Given the description of an element on the screen output the (x, y) to click on. 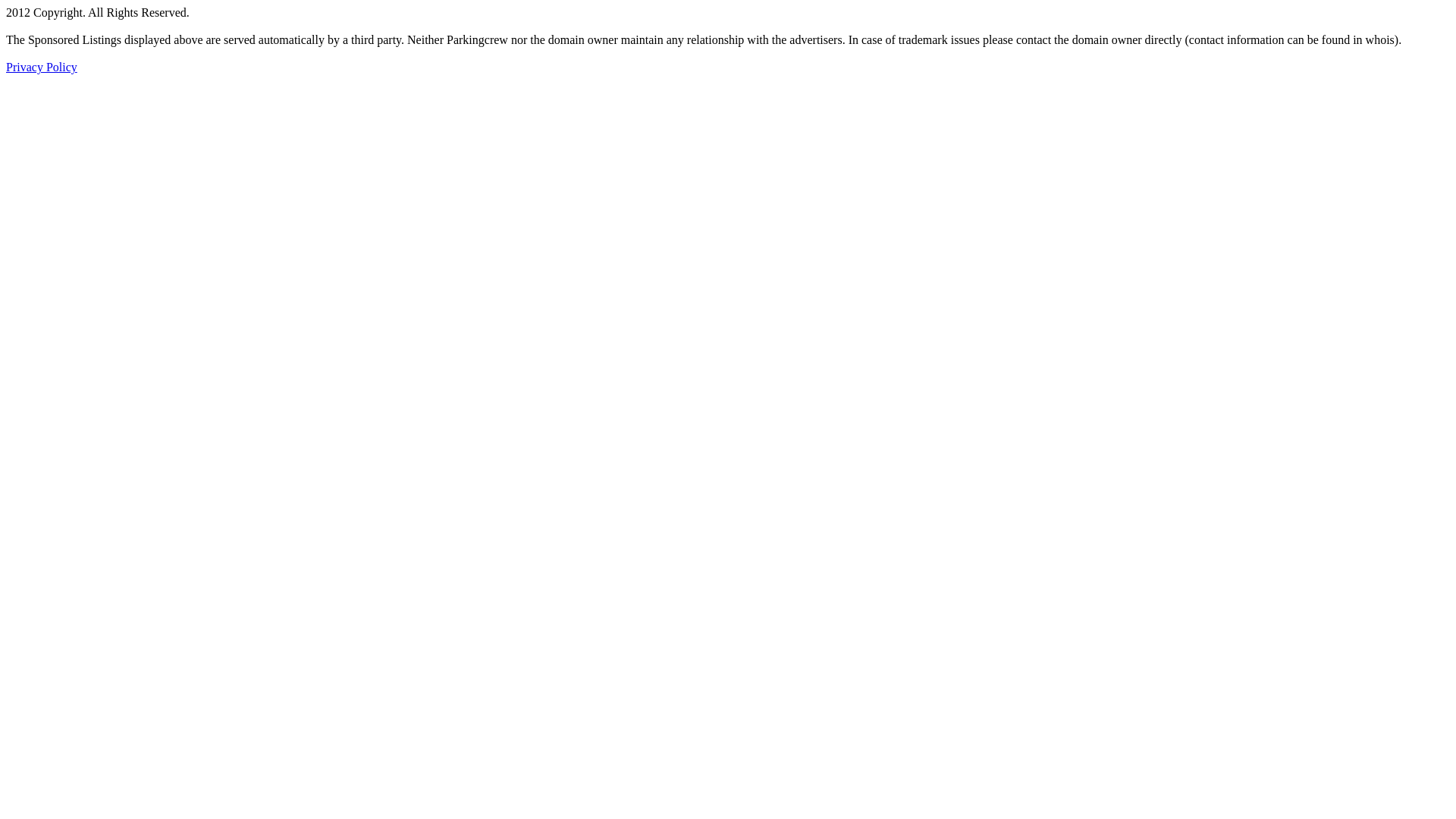
Privacy Policy Element type: text (41, 66)
